Given the description of an element on the screen output the (x, y) to click on. 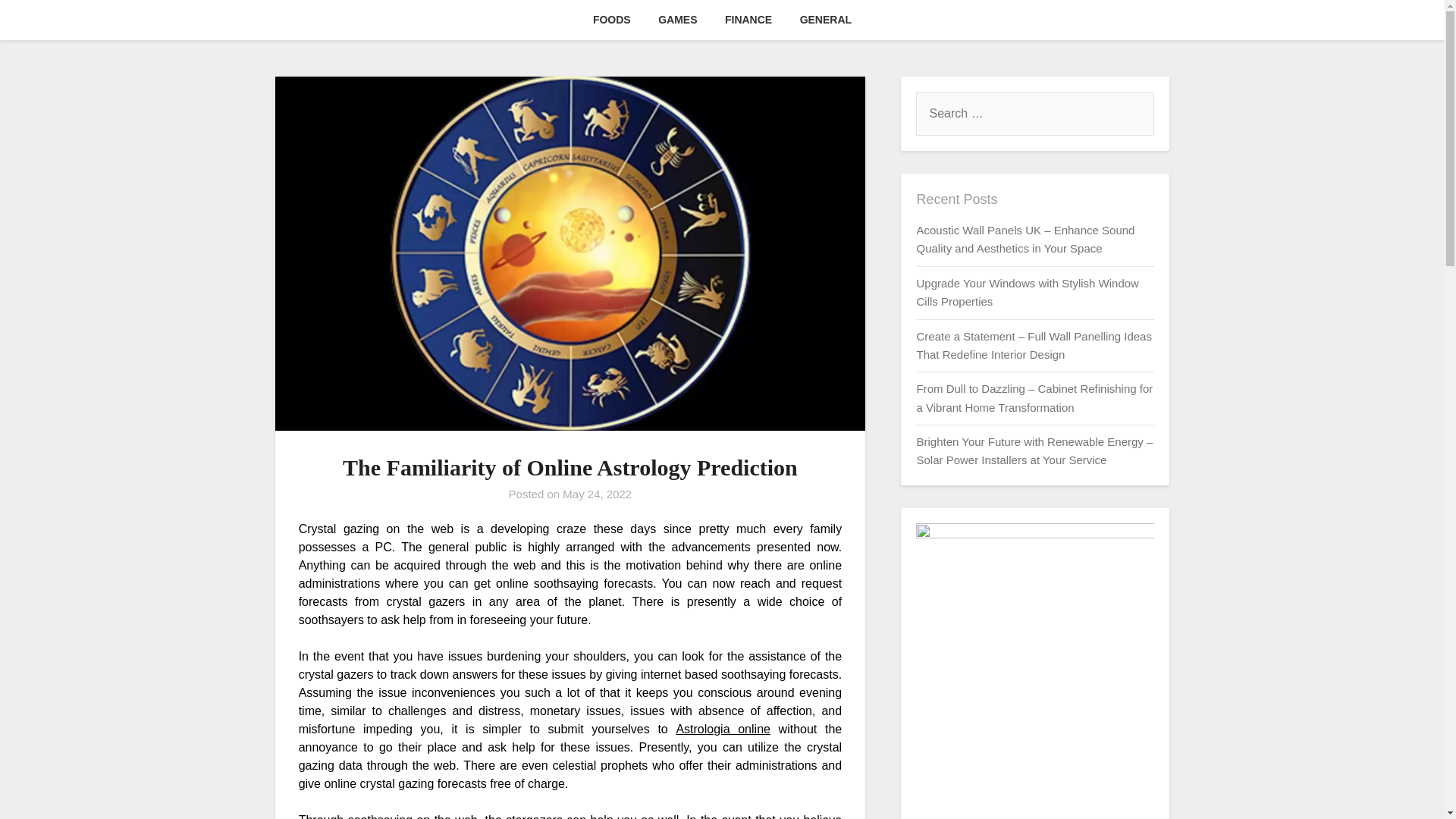
GAMES (677, 20)
Search (37, 22)
FINANCE (748, 20)
GENERAL (825, 20)
Astrologia online (722, 728)
Upgrade Your Windows with Stylish Window Cills Properties (1026, 291)
FOODS (611, 20)
May 24, 2022 (596, 493)
